Given the description of an element on the screen output the (x, y) to click on. 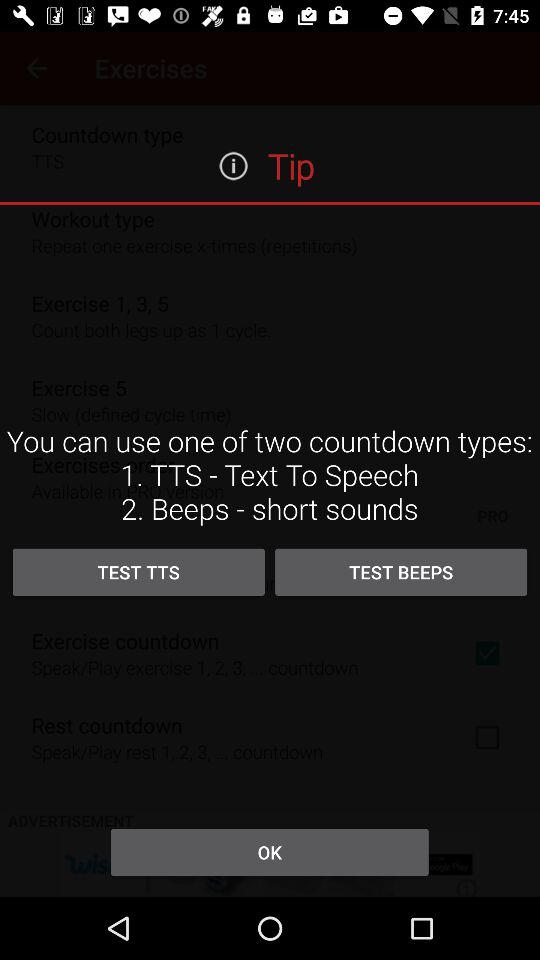
swipe to ok (269, 851)
